Given the description of an element on the screen output the (x, y) to click on. 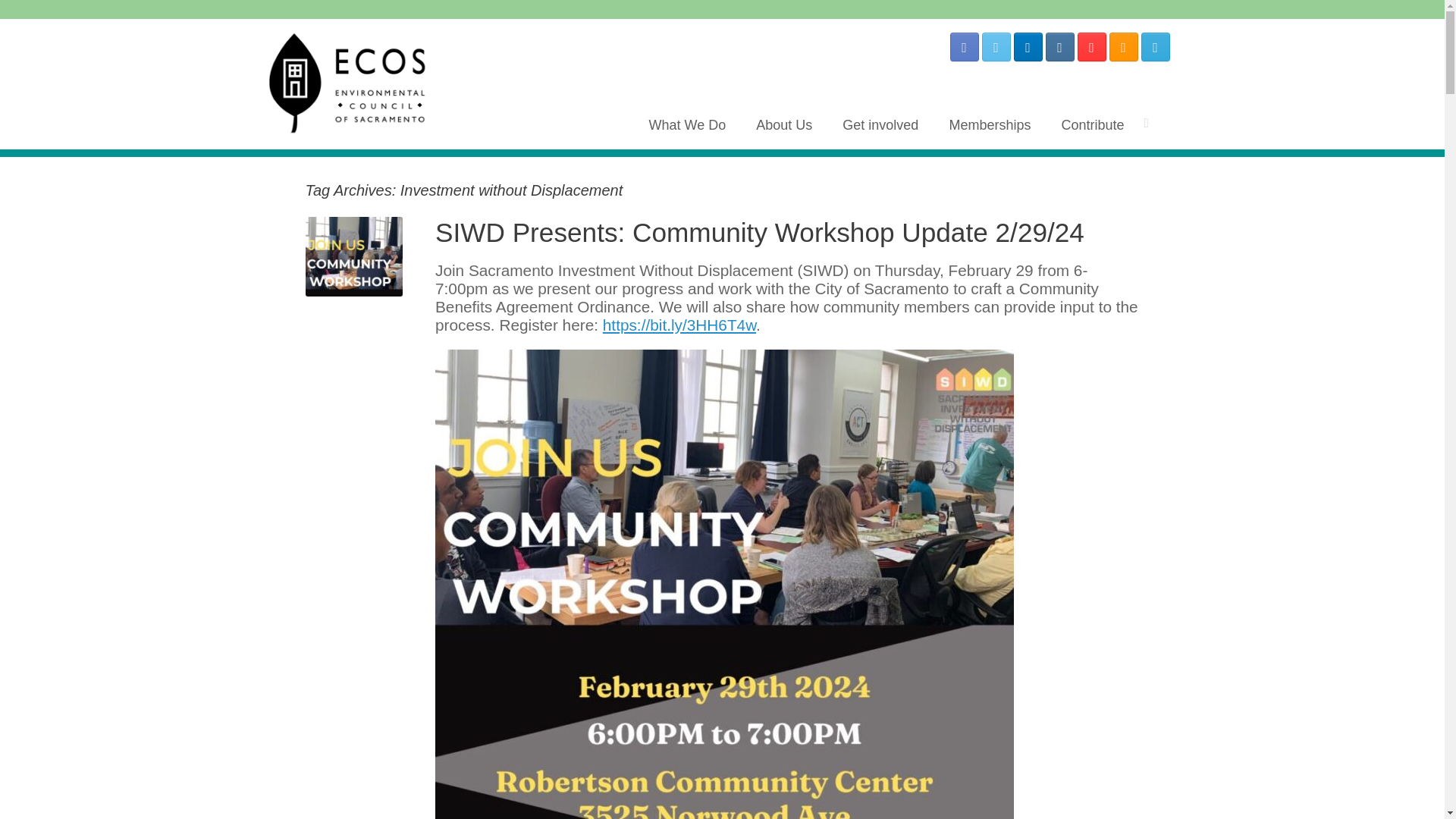
ECOS LinkedIn (1027, 46)
ECOS RSS (1122, 46)
What We Do (687, 125)
ECOS YouTube (1091, 46)
Memberships (989, 125)
ECOS Instagram (1059, 46)
Contribute (1091, 125)
ECOS Facebook (963, 46)
About Us (784, 125)
Get involved (880, 125)
ECOS Email (1154, 46)
ECOS Twitter (995, 46)
